Given the description of an element on the screen output the (x, y) to click on. 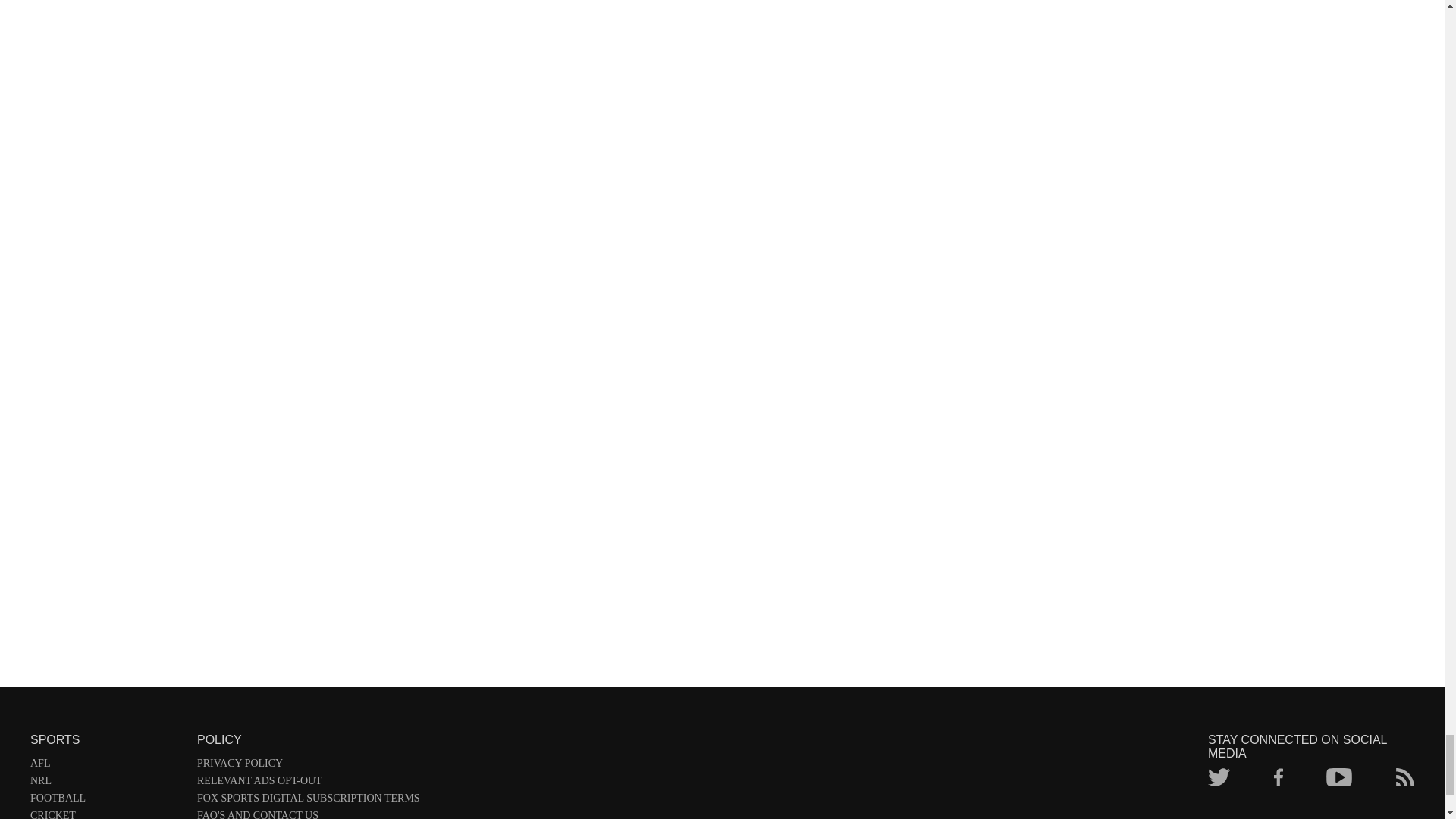
PRIVACY POLICY (308, 765)
CRICKET (106, 814)
RELEVANT ADS OPT-OUT (308, 783)
FAQ'S AND CONTACT US (308, 814)
AFL (106, 765)
NRL (106, 783)
FOX SPORTS DIGITAL SUBSCRIPTION TERMS (308, 800)
FOOTBALL (106, 800)
